Given the description of an element on the screen output the (x, y) to click on. 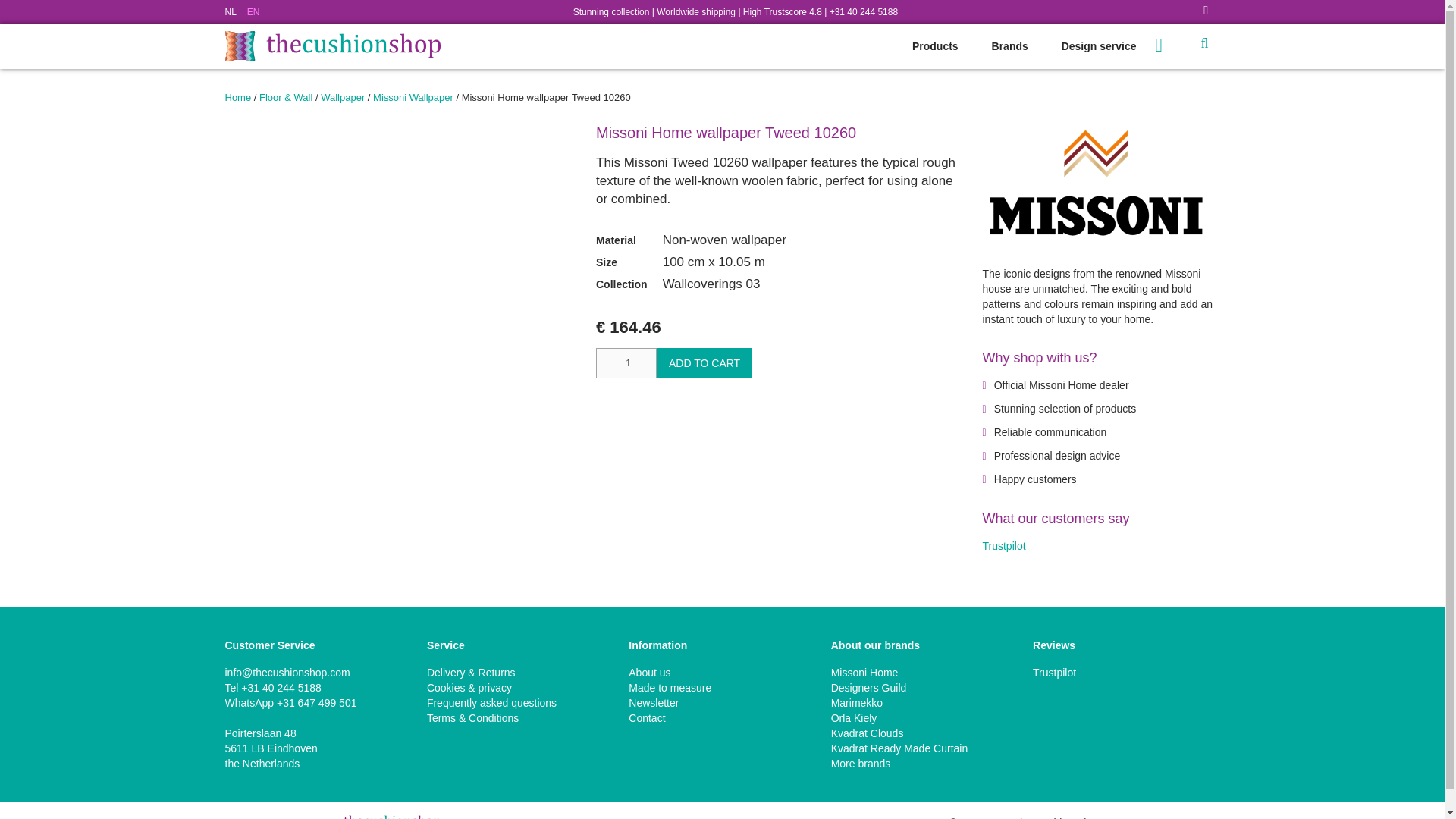
To cart (1171, 44)
Products (935, 45)
1 (625, 363)
The Cushion Shop (331, 46)
